Given the description of an element on the screen output the (x, y) to click on. 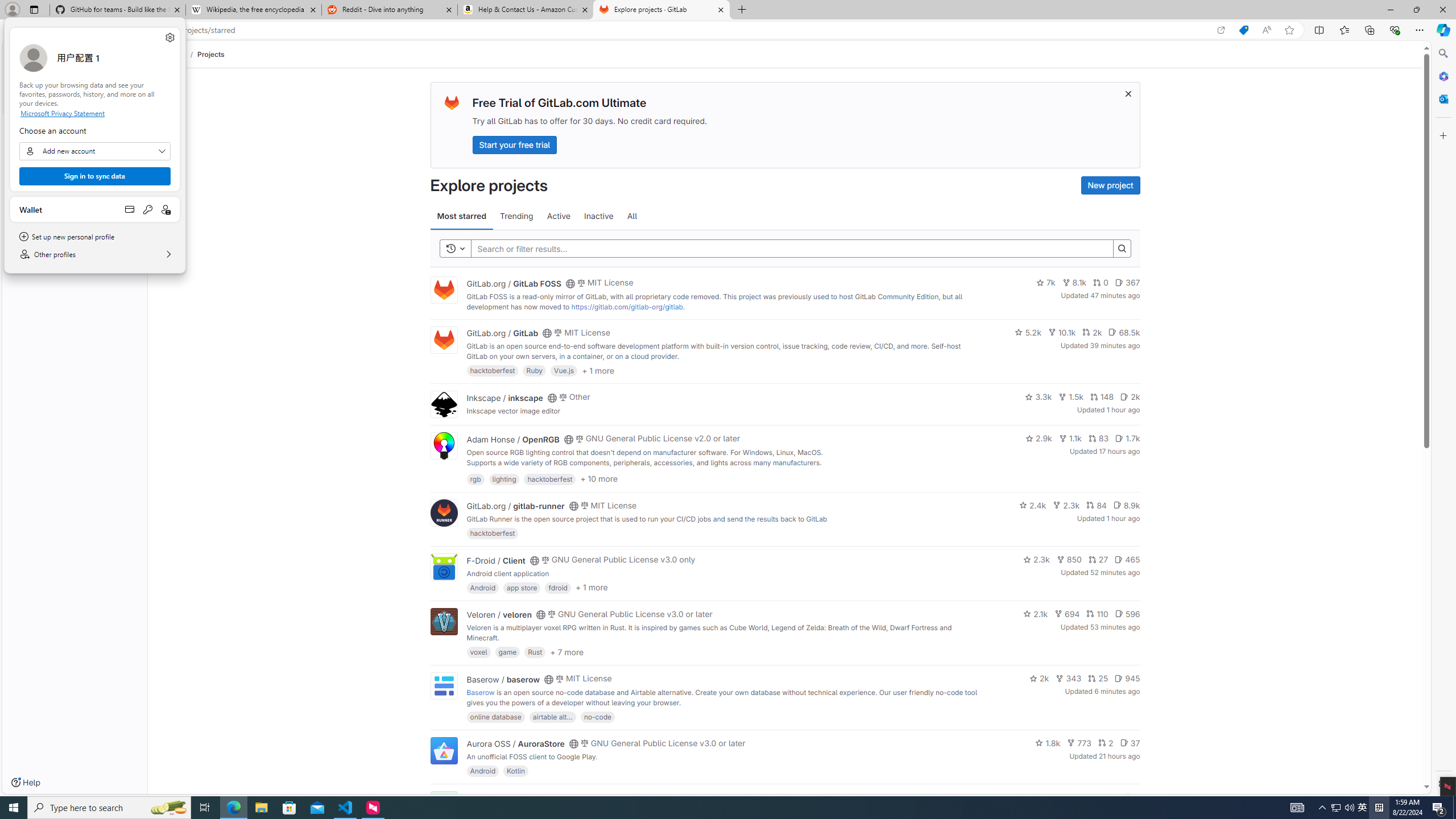
Veloren / veloren (498, 614)
Rust (535, 651)
143 (1085, 797)
Toggle history (455, 248)
367 (1127, 282)
0 (1100, 282)
773 (1079, 742)
game (507, 651)
Baserow (480, 691)
2.3k (1035, 559)
